Given the description of an element on the screen output the (x, y) to click on. 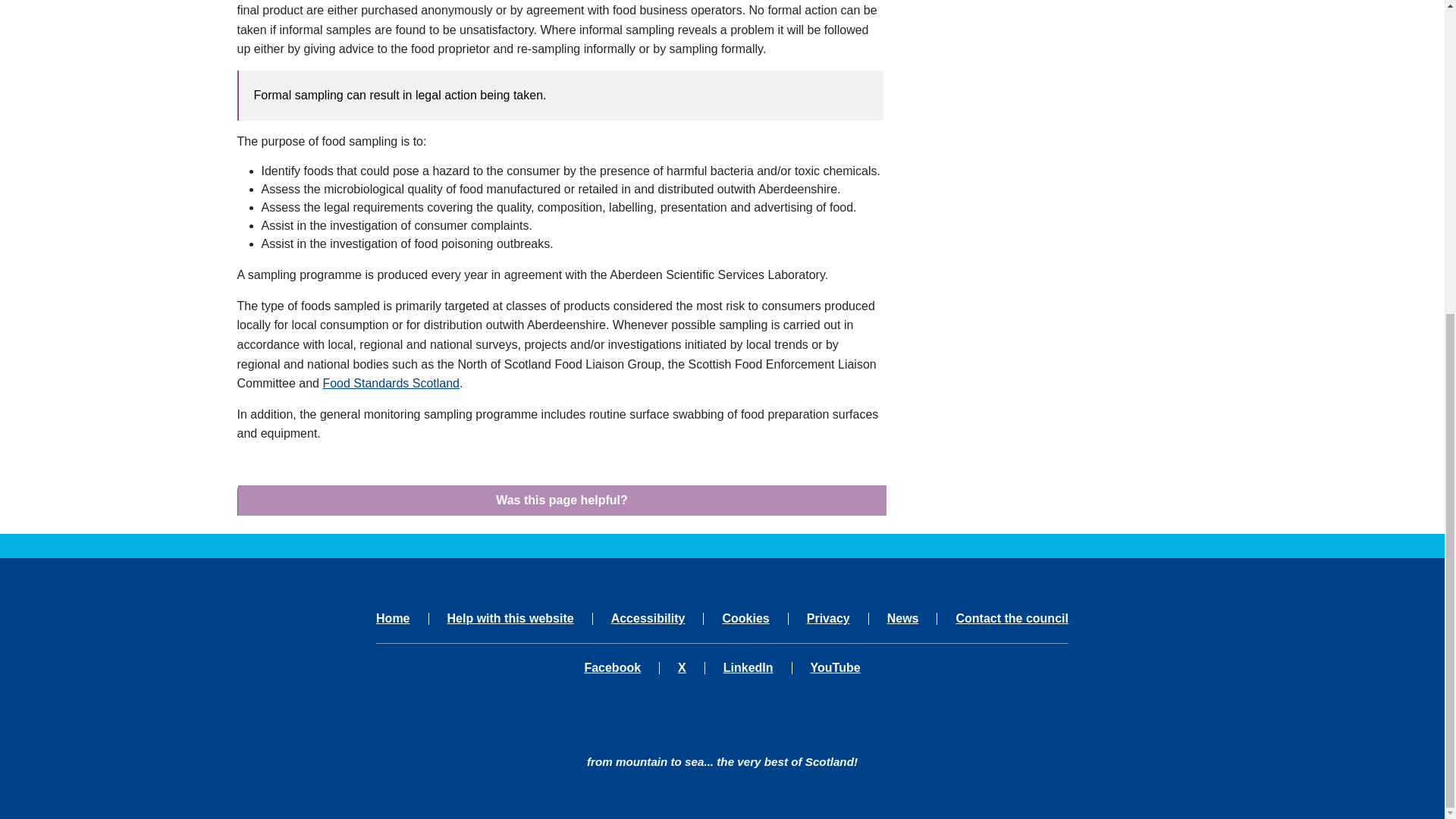
Help with this website (510, 618)
Facebook (621, 667)
Accessibility (647, 618)
Was this page helpful? (562, 500)
Home (401, 618)
X (681, 667)
Contact the council (1002, 618)
Privacy (828, 618)
News (903, 618)
Cookies (745, 618)
